Given the description of an element on the screen output the (x, y) to click on. 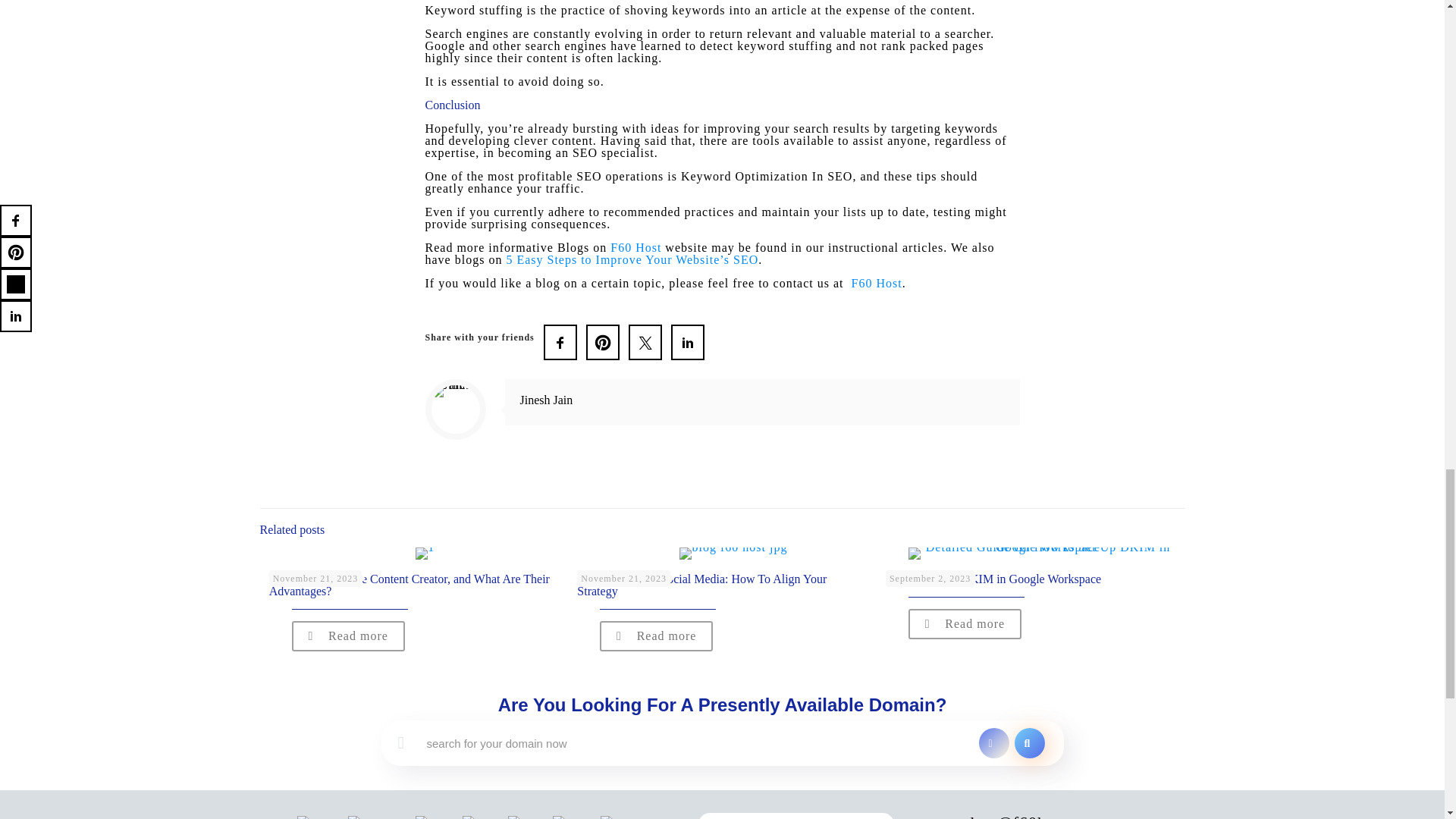
How to Set Up DKIM in Google Workspace 7 (1041, 553)
Organic vs. Paid Social Media: How To Align Your Strategy 5 (733, 553)
transfer (993, 743)
